Given the description of an element on the screen output the (x, y) to click on. 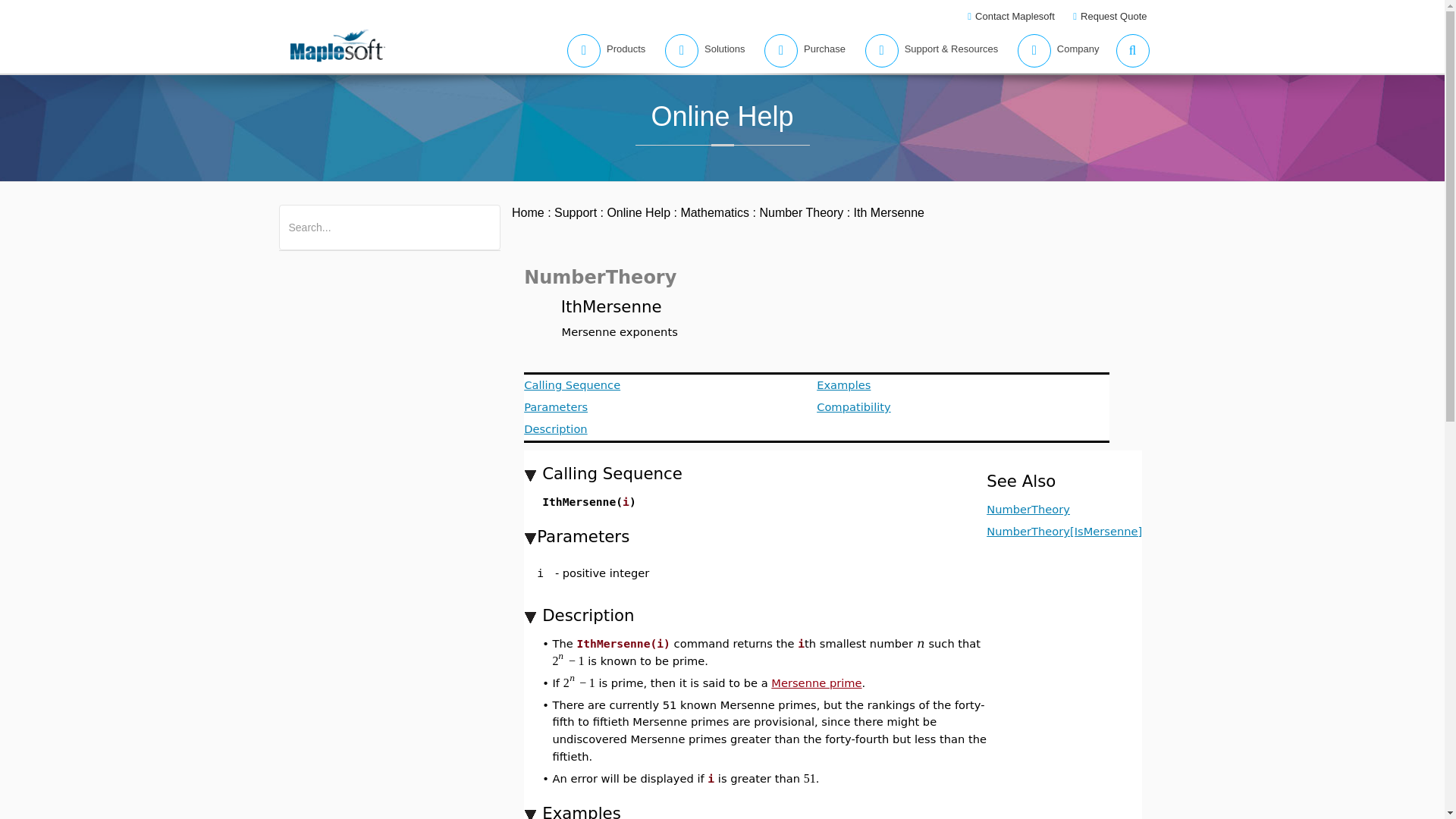
Contact Maplesoft (1012, 16)
Solutions (699, 50)
Maple (367, 217)
Request Quote (1112, 16)
All (294, 217)
MapleSim (415, 217)
Products (601, 50)
